Given the description of an element on the screen output the (x, y) to click on. 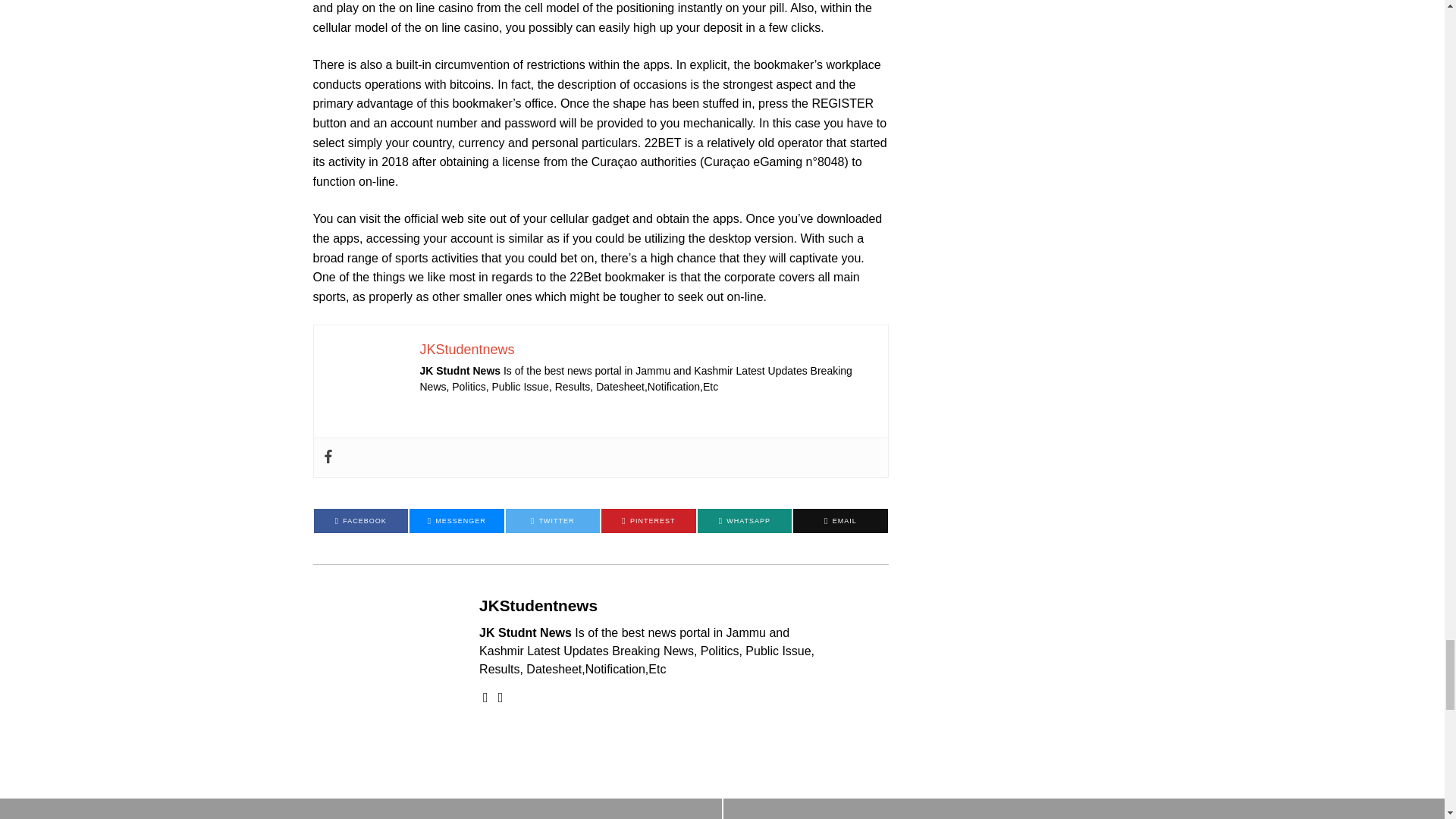
Facebook (361, 520)
Pinterest (648, 520)
EMAIL (840, 520)
JKStudentnews (537, 605)
JKStudentnews (467, 349)
TWITTER (552, 520)
WHATSAPP (744, 520)
MESSENGER (456, 520)
Whatsapp (744, 520)
FACEBOOK (361, 520)
Email (840, 520)
PINTEREST (648, 520)
Messenger (456, 520)
Twitter (552, 520)
